Given the description of an element on the screen output the (x, y) to click on. 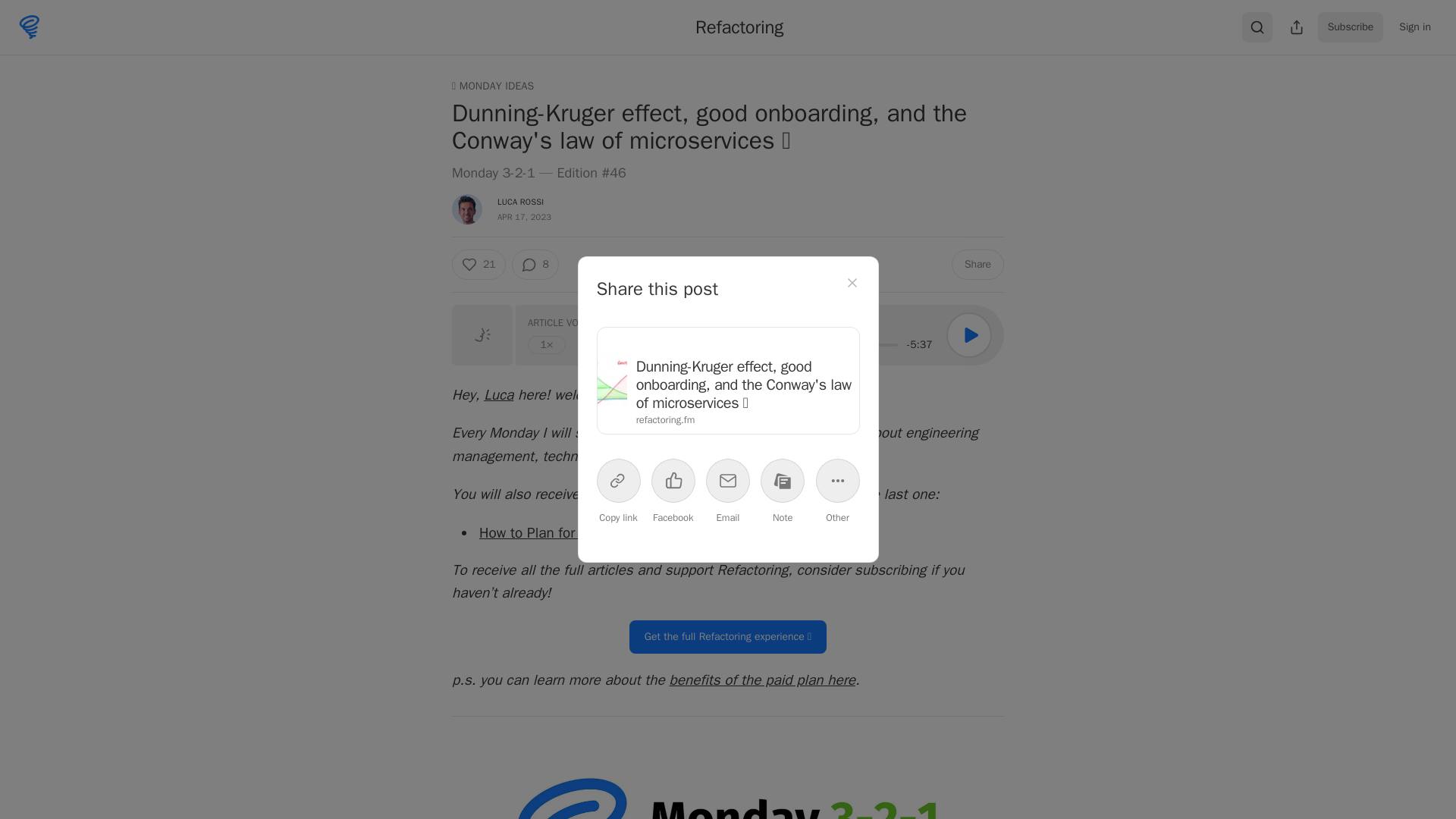
LUCA ROSSI (520, 201)
How to Plan for Maintenance (570, 533)
Subscribe (1350, 27)
Sign in (1415, 27)
8 (534, 264)
Share (978, 264)
benefits of the paid plan here (761, 679)
Luca (498, 394)
21 (478, 264)
Refactoring (739, 26)
